Given the description of an element on the screen output the (x, y) to click on. 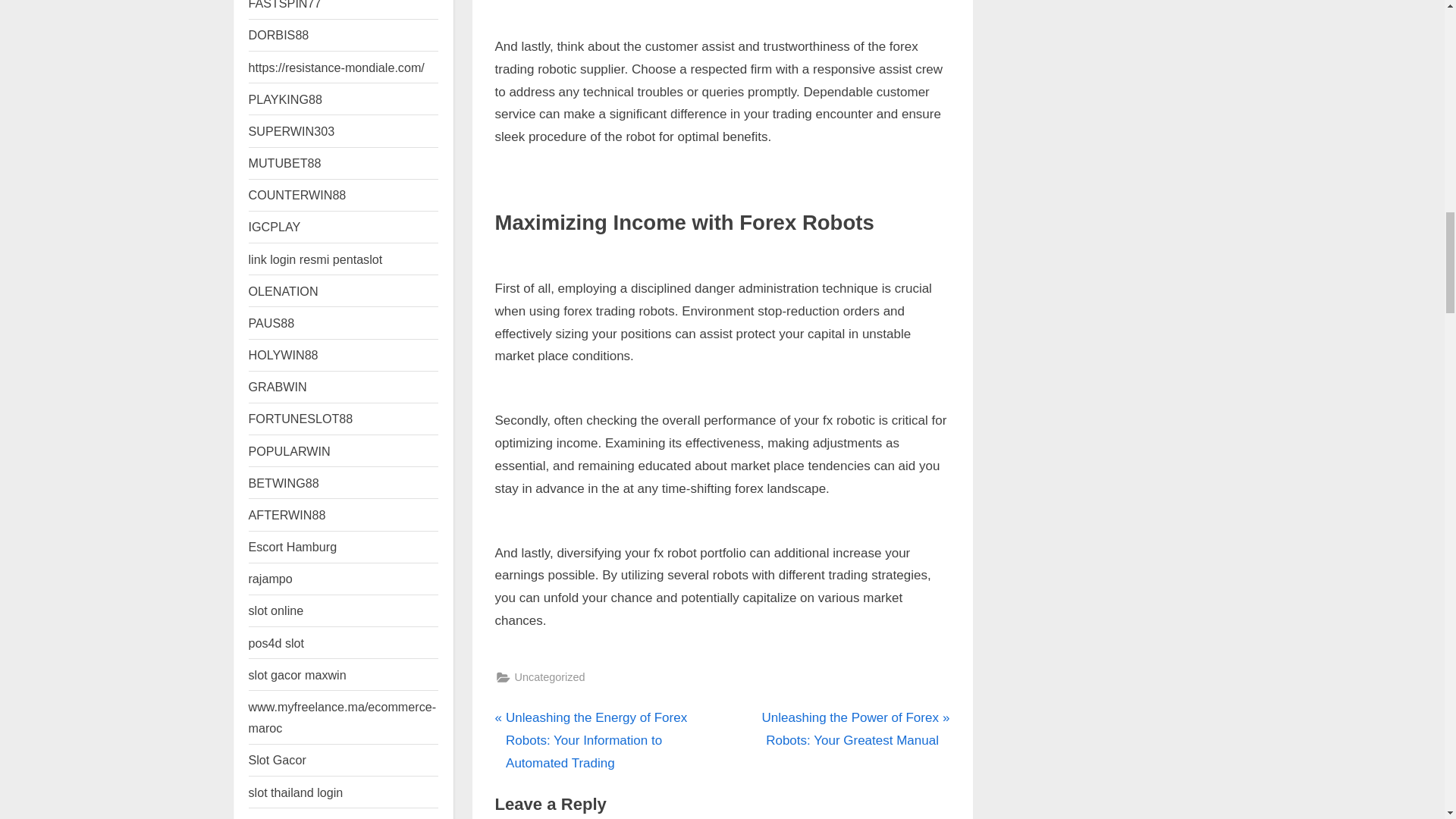
Uncategorized (549, 677)
